Given the description of an element on the screen output the (x, y) to click on. 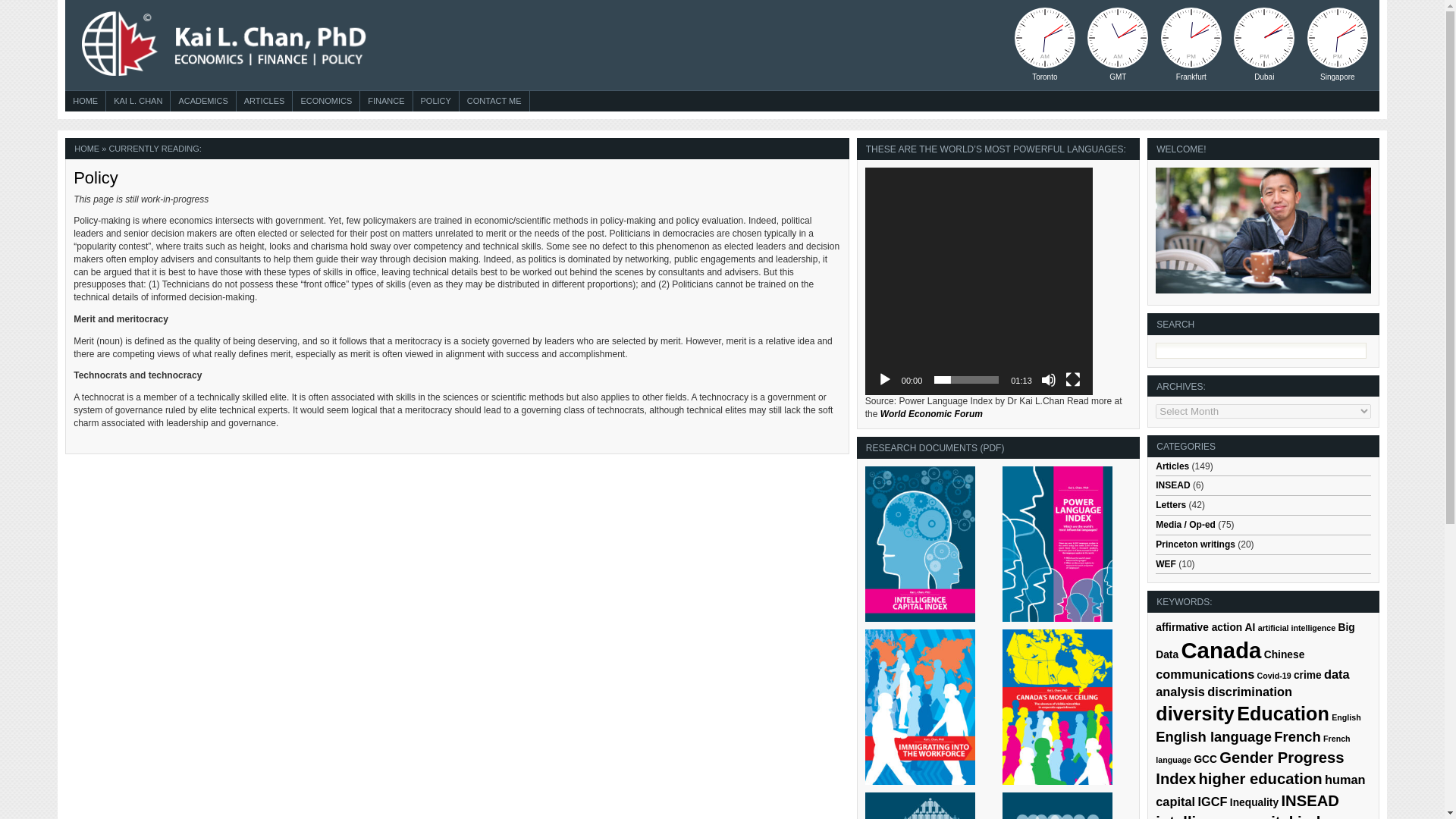
KAI L. CHAN (137, 101)
HOME (84, 101)
ARTICLES (264, 101)
ECONOMICS (325, 101)
Articles (1172, 466)
Princeton writings (1195, 543)
Mute (1049, 379)
Fullscreen (1072, 379)
Policy (95, 177)
Letters (1171, 504)
Play (884, 379)
ACADEMICS (202, 101)
INSEAD (1172, 484)
POLICY (434, 101)
WEF (1166, 563)
